Given the description of an element on the screen output the (x, y) to click on. 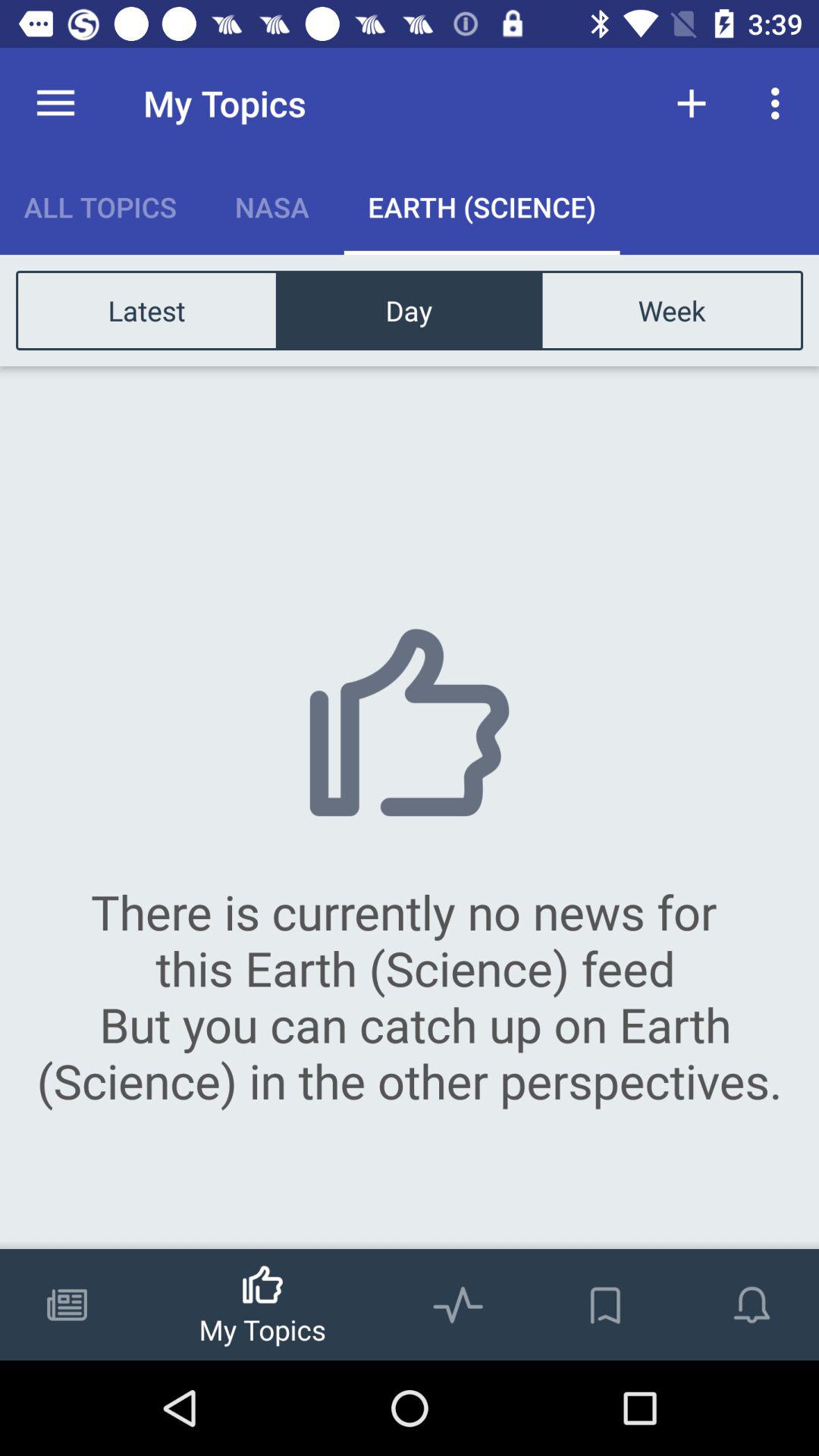
select item below the earth (science) icon (671, 310)
